Given the description of an element on the screen output the (x, y) to click on. 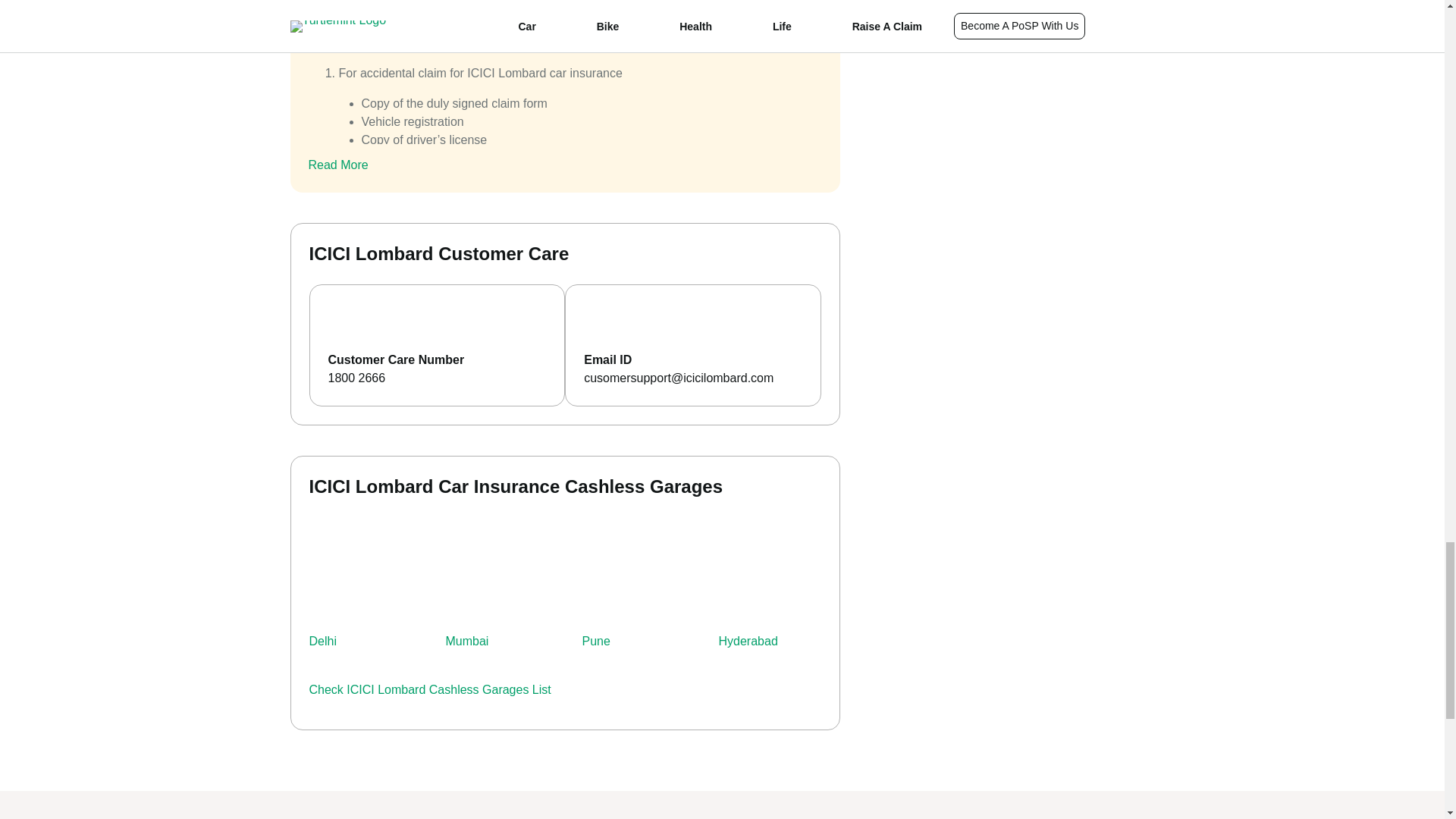
ICICI Lombard Cashless Garages In Delhi (376, 574)
ICICI Lombard Cashless Garages In Mumbai (513, 574)
